Given the description of an element on the screen output the (x, y) to click on. 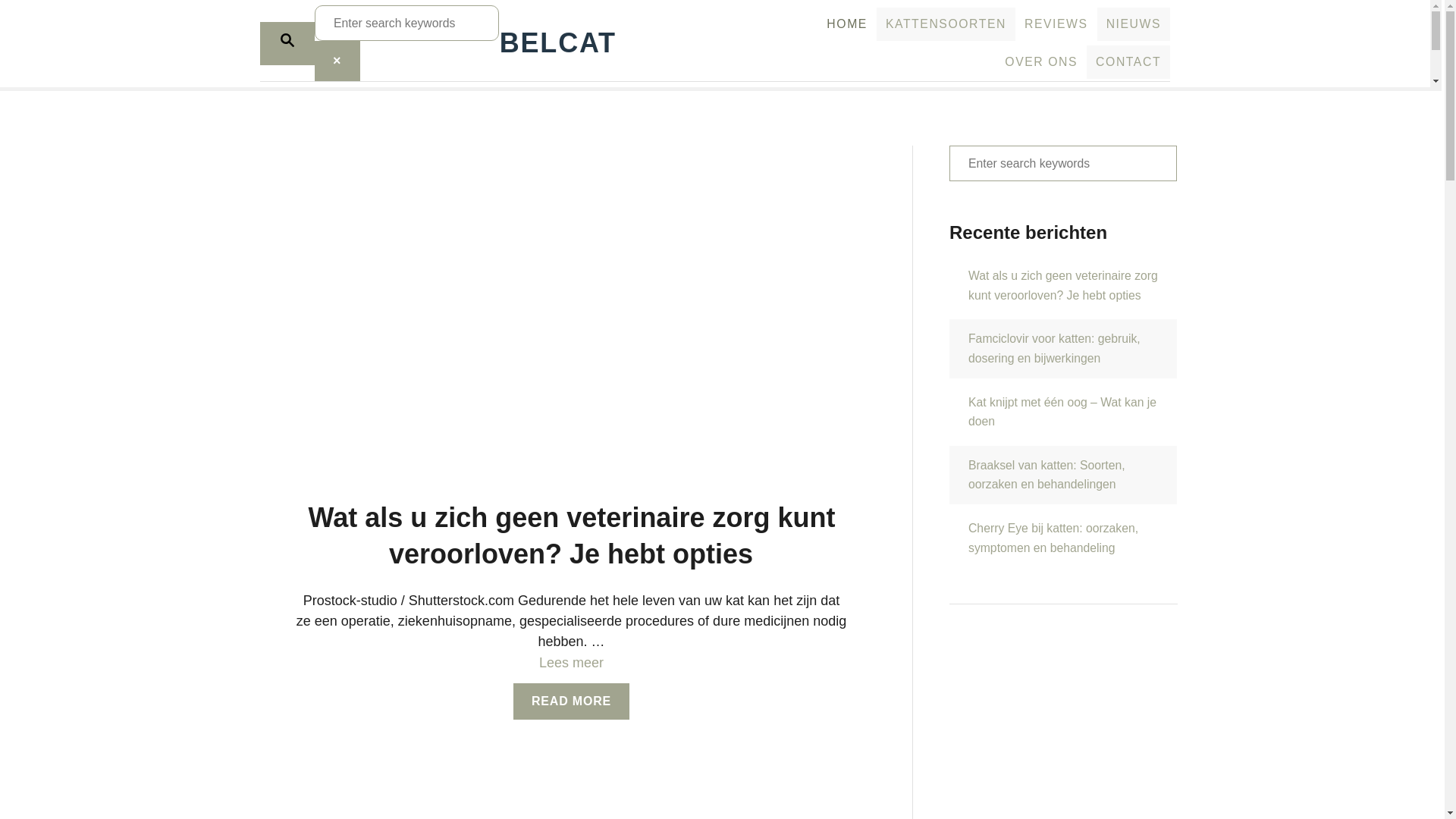
Braaksel van katten: Soorten, oorzaken en behandelingen Element type: text (1062, 474)
NIEUWS Element type: text (1133, 23)
KATTENSOORTEN Element type: text (945, 23)
Search Element type: text (22, 22)
HOME Element type: text (846, 23)
SEARCH
BELCAT - ALLES WAT JE OVER KATTEN MOET WETEN Element type: text (287, 42)
BELCAT Element type: text (594, 42)
Search for: Element type: hover (1062, 163)
CONTACT Element type: text (1128, 61)
REVIEWS Element type: text (1056, 23)
Lees meer Element type: text (571, 663)
Cherry Eye bij katten: oorzaken, symptomen en behandeling Element type: text (1062, 537)
OVER ONS Element type: text (1040, 61)
Famciclovir voor katten: gebruik, dosering en bijwerkingen Element type: text (1062, 348)
Search for: Element type: hover (406, 22)
